Given the description of an element on the screen output the (x, y) to click on. 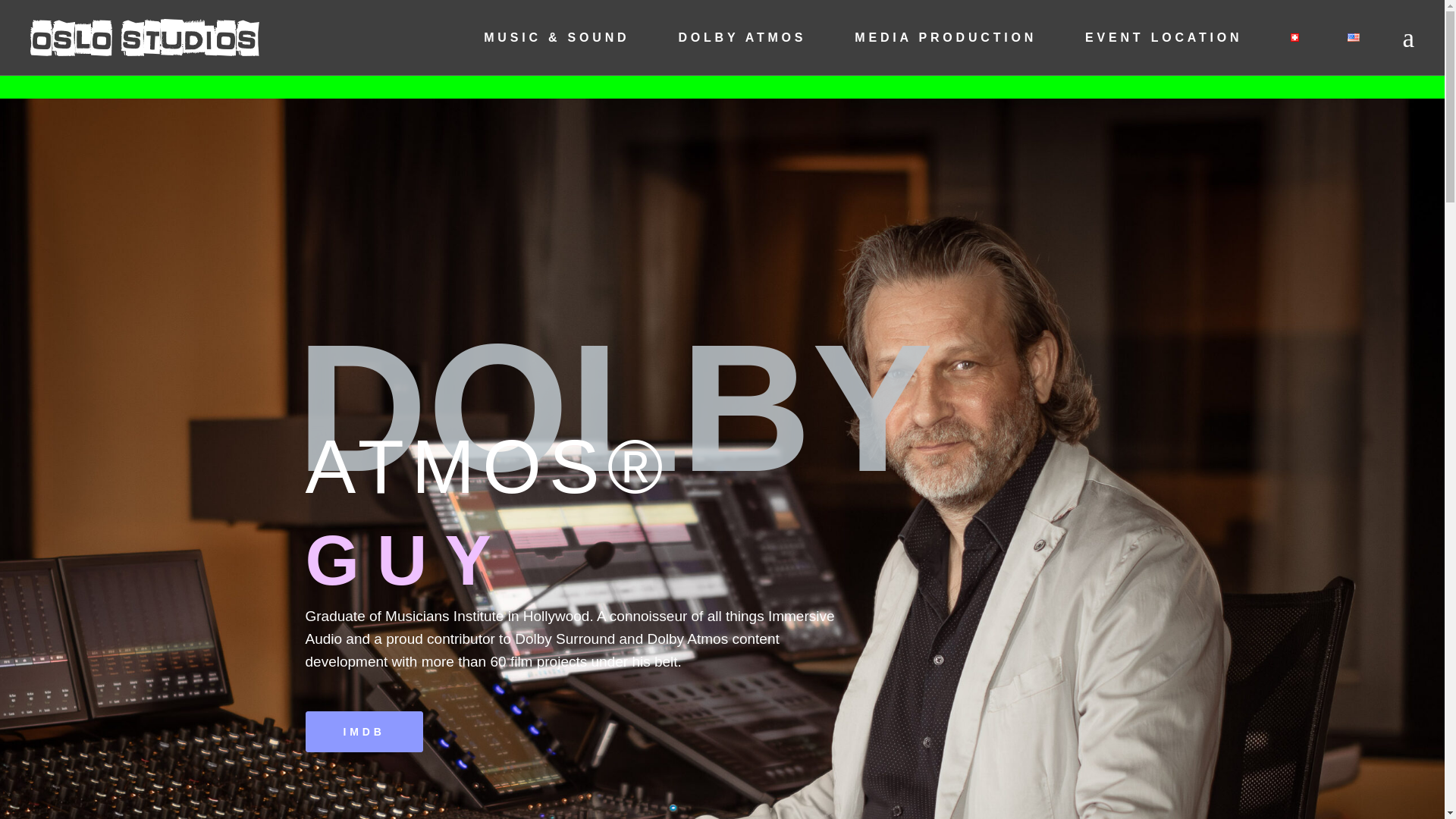
EVENT LOCATION (1163, 37)
MEDIA PRODUCTION (945, 37)
DOLBY ATMOS (741, 37)
IMDB (363, 731)
